Given the description of an element on the screen output the (x, y) to click on. 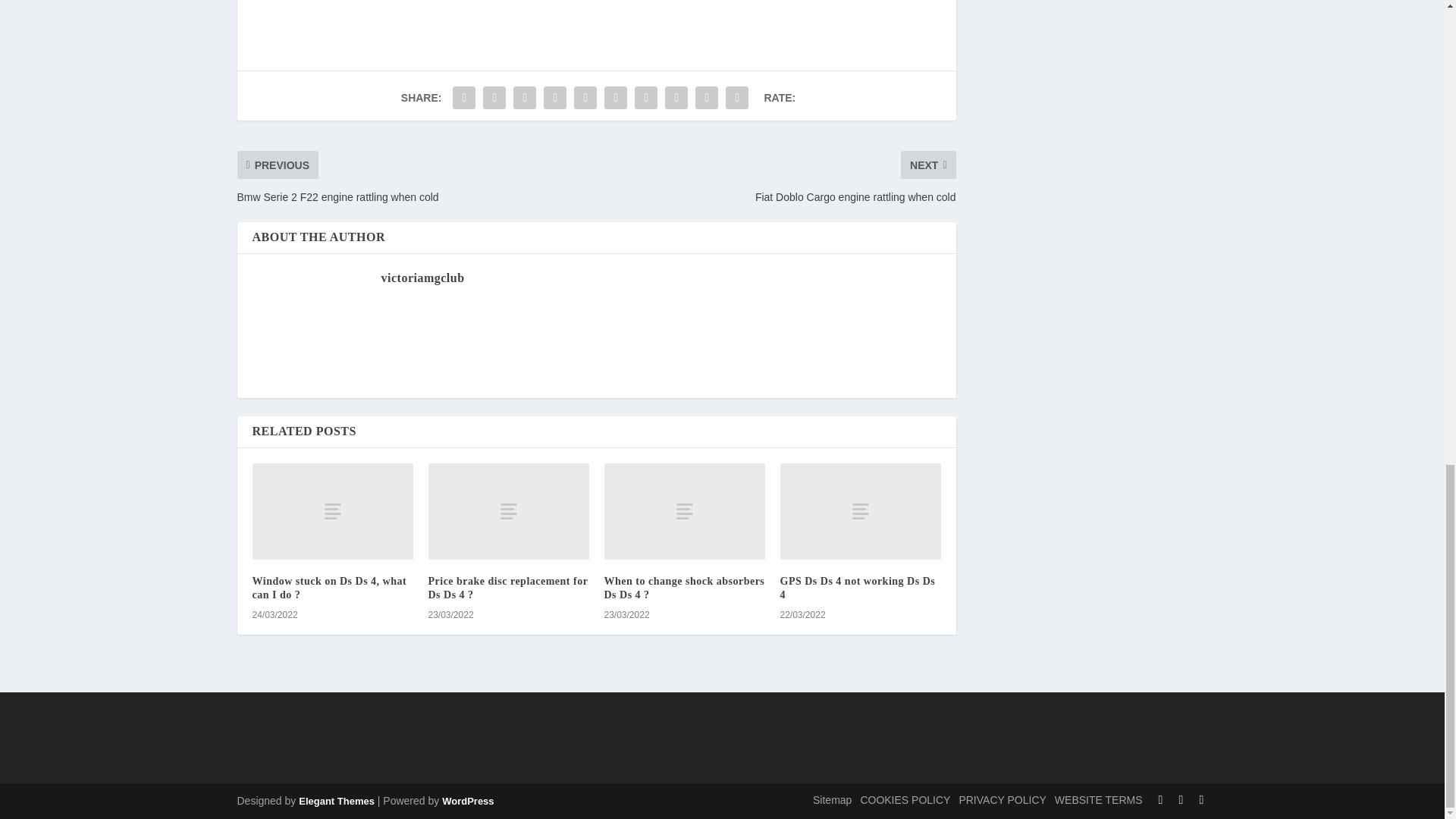
Elegant Themes (336, 800)
Sitemap (831, 799)
Price brake disc replacement for Ds Ds 4 ? (508, 587)
Share "Ds Ds 4 engine rattling when cold" via Twitter (494, 97)
Window stuck on Ds Ds 4, what can I do ? (328, 587)
Share "Ds Ds 4 engine rattling when cold" via Stumbleupon (676, 97)
Share "Ds Ds 4 engine rattling when cold" via LinkedIn (614, 97)
WordPress (467, 800)
WEBSITE TERMS (1098, 799)
COOKIES POLICY (905, 799)
When to change shock absorbers Ds Ds 4 ? (684, 587)
PRIVACY POLICY (1001, 799)
GPS Ds Ds 4 not working Ds Ds 4 (856, 587)
victoriamgclub (422, 277)
Share "Ds Ds 4 engine rattling when cold" via Email (706, 97)
